Given the description of an element on the screen output the (x, y) to click on. 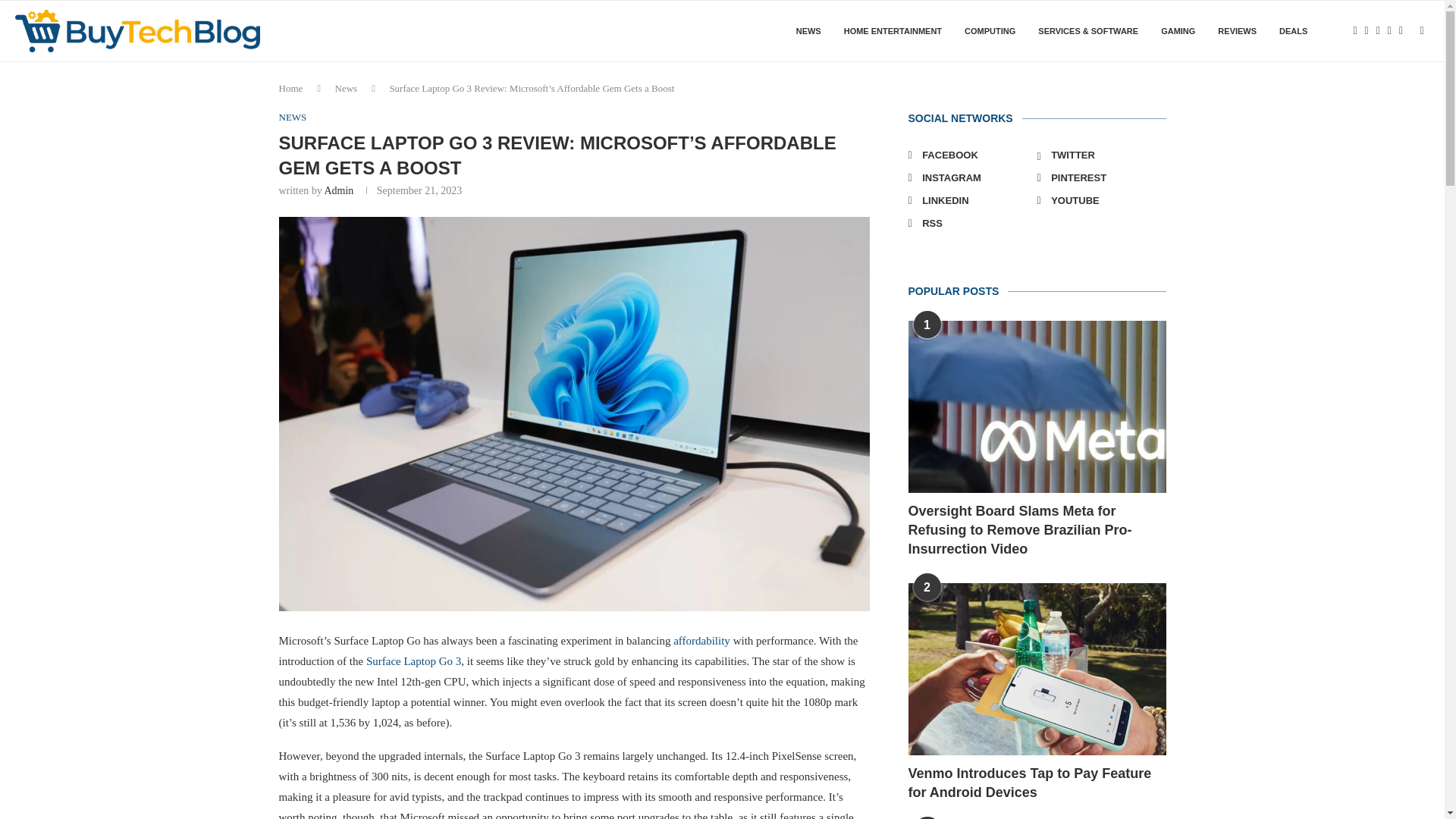
NEWS (293, 117)
NEWS (808, 30)
affordability (701, 640)
REVIEWS (1236, 30)
News (346, 88)
COMPUTING (988, 30)
Home (290, 88)
GAMING (1177, 30)
DEALS (1293, 30)
Surface Laptop Go 3 (413, 661)
HOME ENTERTAINMENT (893, 30)
Admin (338, 190)
